Given the description of an element on the screen output the (x, y) to click on. 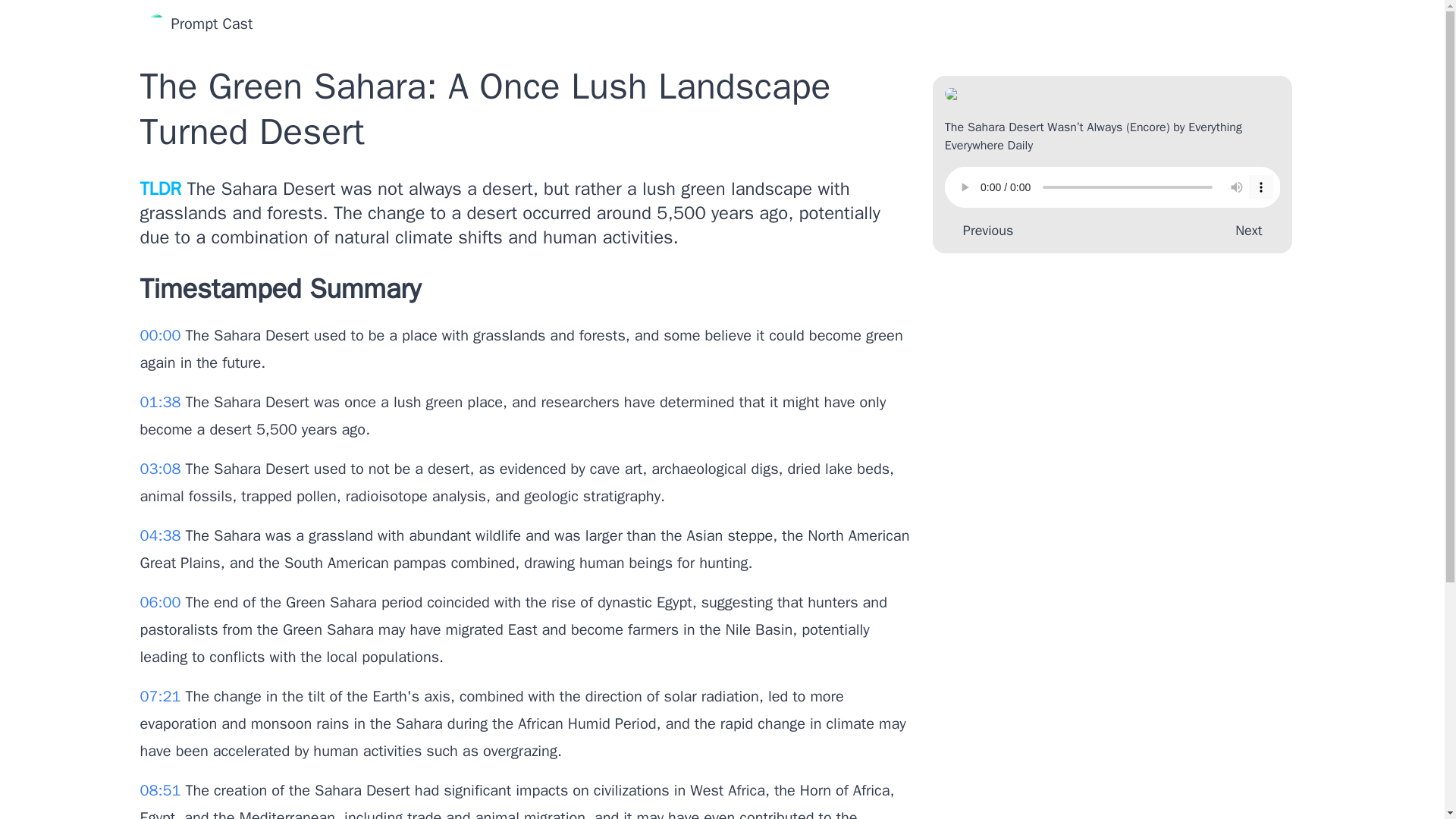
00:00 (161, 334)
01:38 (161, 402)
06:00 (161, 601)
Everything Everywhere Daily (1092, 136)
Next (1251, 230)
08:51 (161, 790)
Prompt Cast (198, 24)
03:08 (161, 468)
07:21 (161, 696)
04:38 (161, 535)
